Given the description of an element on the screen output the (x, y) to click on. 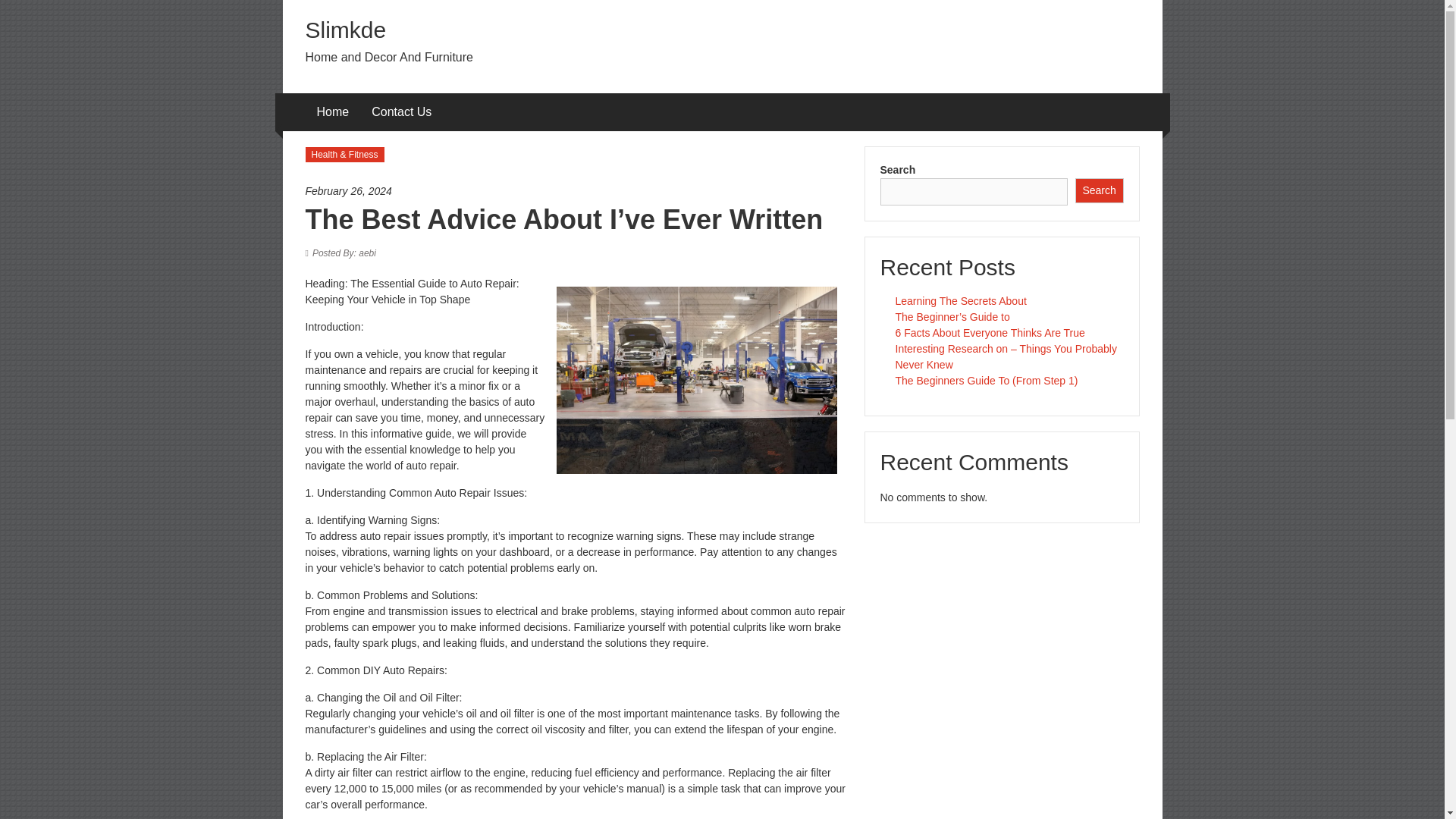
Posted By: aebi (344, 253)
4:11 am (575, 191)
aebi (344, 253)
Learning The Secrets About (960, 300)
Contact Us (400, 112)
February 26, 2024 (575, 191)
Slimkde (344, 29)
6 Facts About Everyone Thinks Are True (989, 332)
Search (1099, 190)
Slimkde (344, 29)
